Given the description of an element on the screen output the (x, y) to click on. 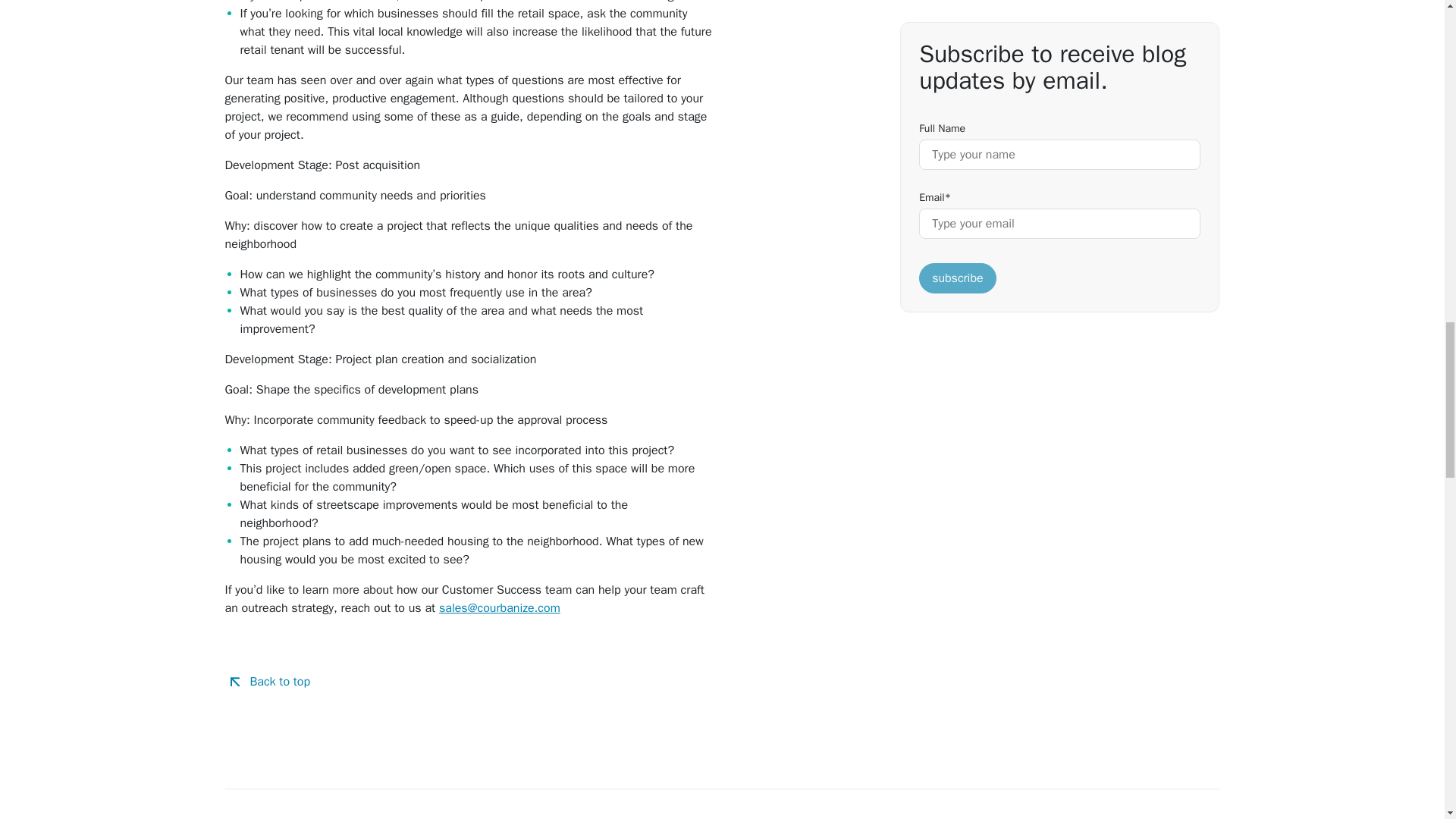
Back to top (267, 681)
